Given the description of an element on the screen output the (x, y) to click on. 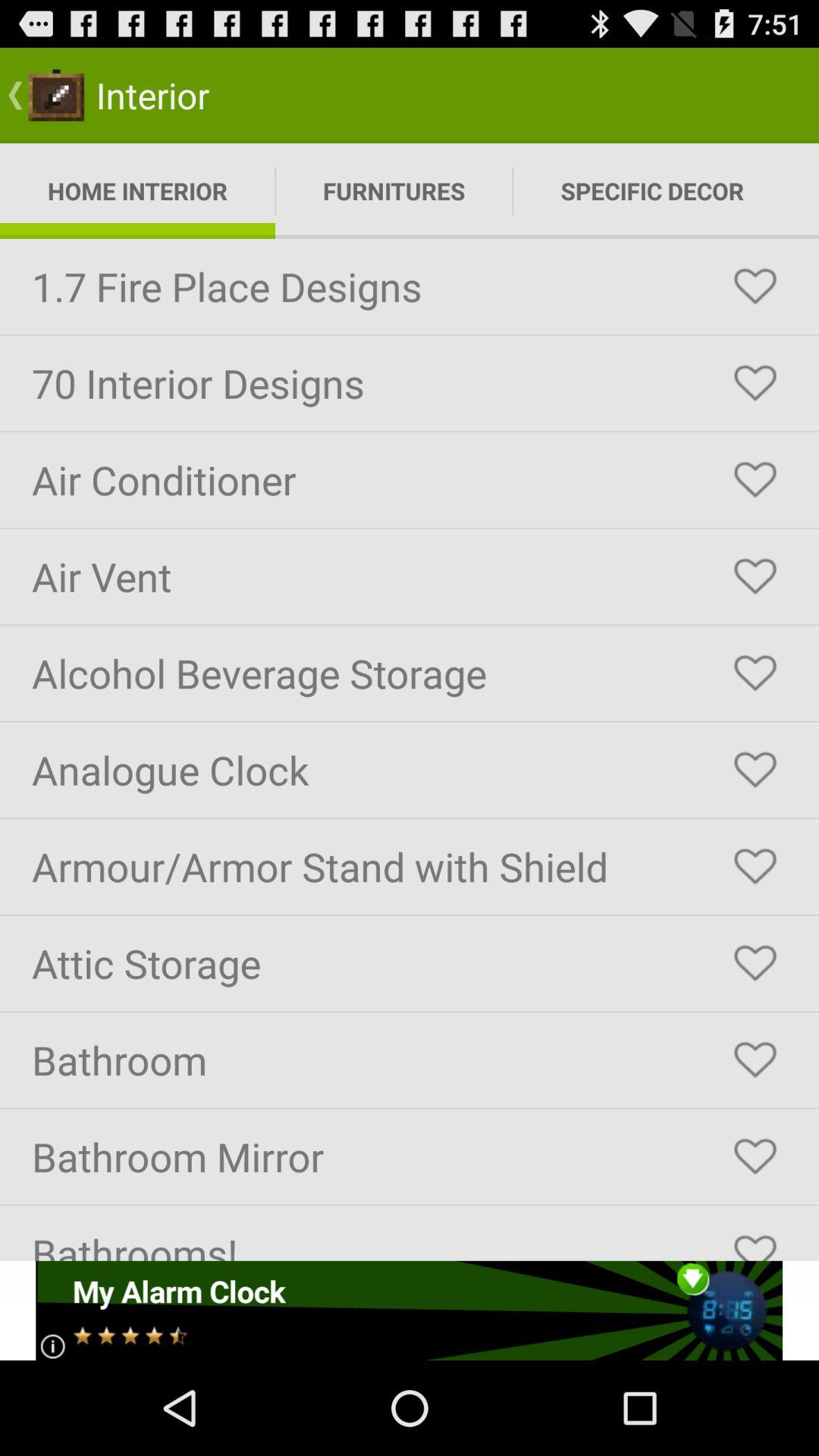
like (755, 866)
